Given the description of an element on the screen output the (x, y) to click on. 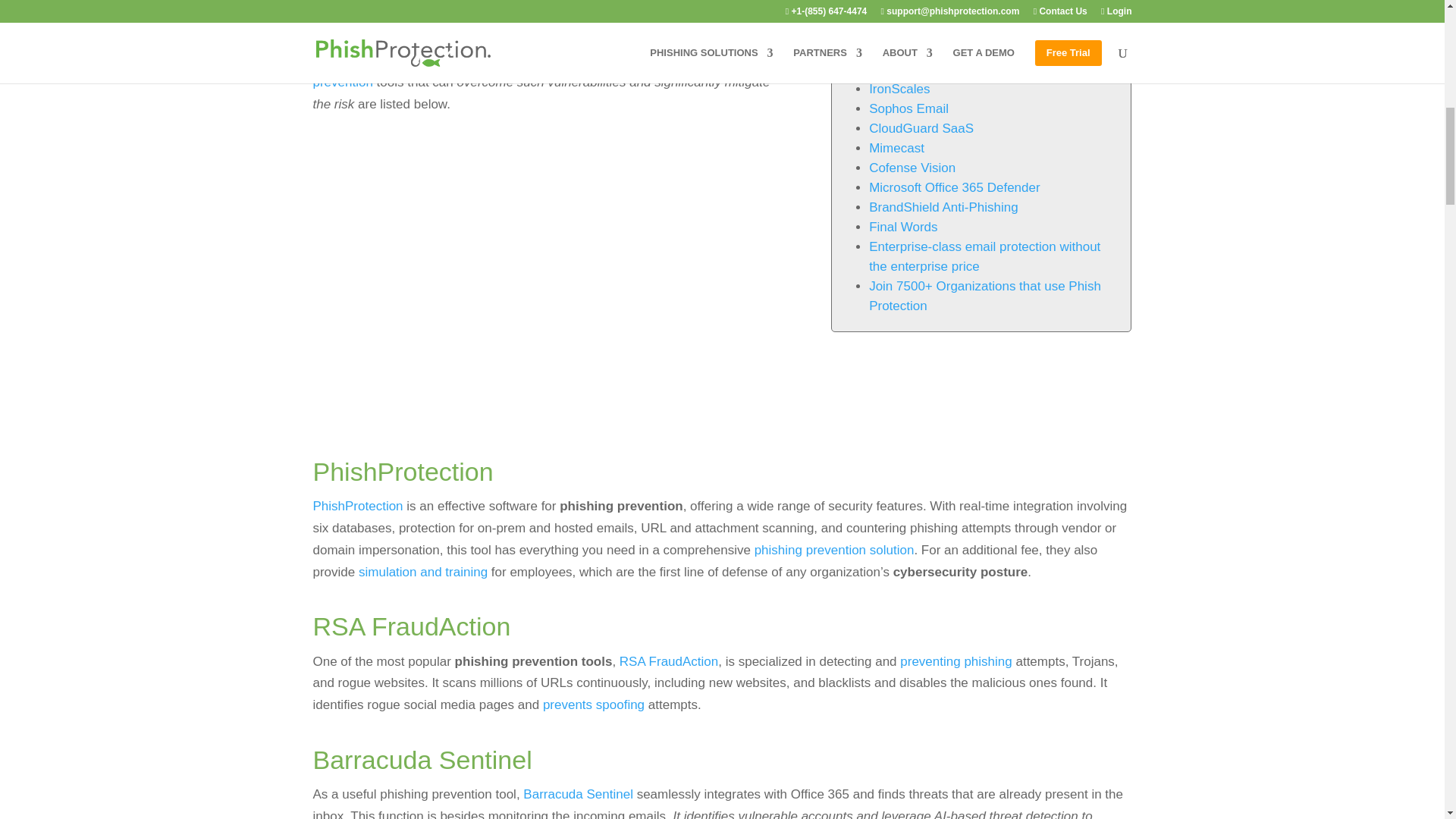
Microsoft Office 365 Defender (955, 187)
Sophos Email (909, 108)
CloudGuard SaaS (921, 128)
Mimecast (896, 147)
phishing prevention (539, 71)
PhishProtection (914, 29)
Cofense Vision (912, 167)
IronScales (899, 88)
BrandShield Anti-Phishing (943, 206)
